Given the description of an element on the screen output the (x, y) to click on. 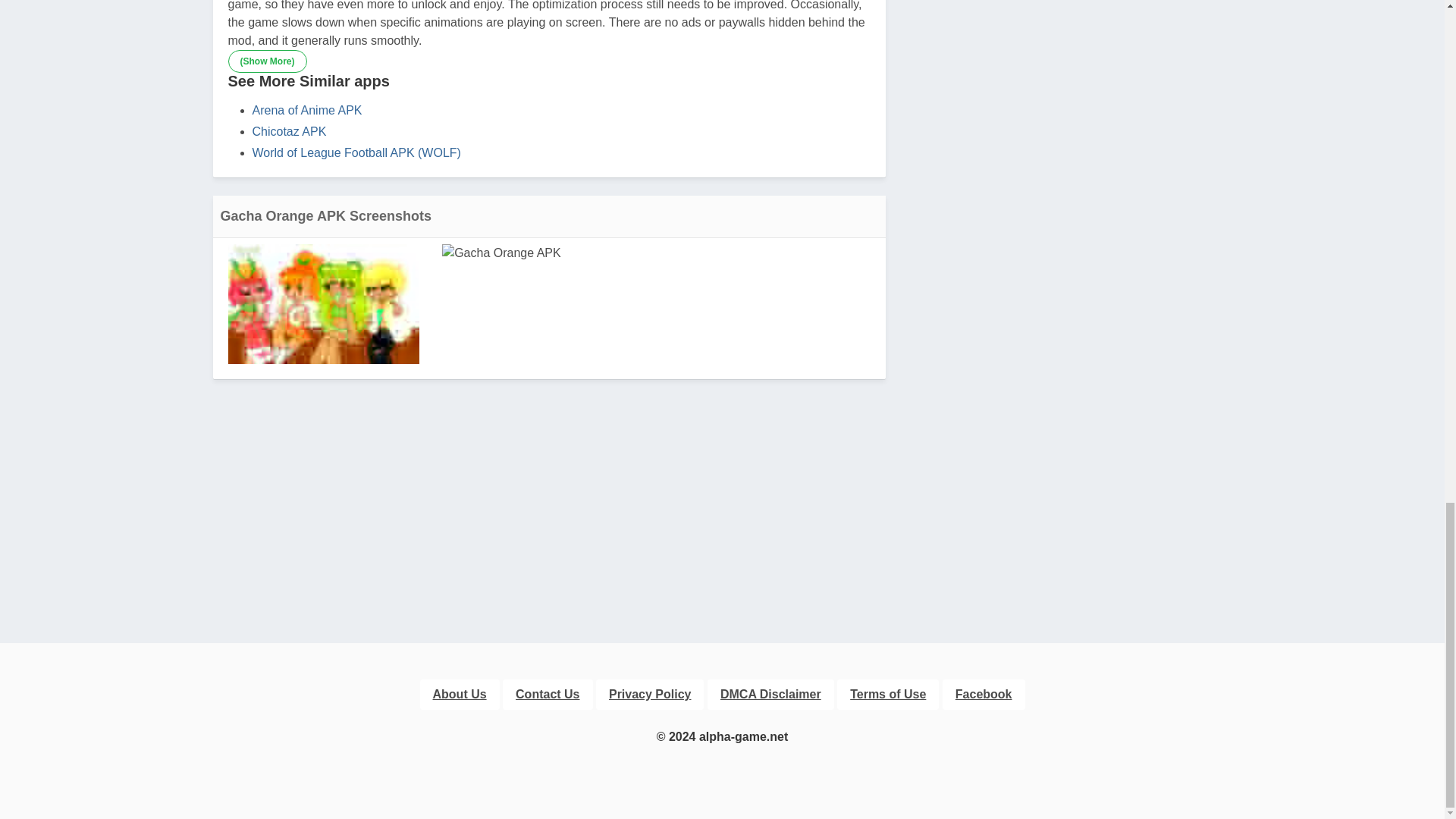
Chicotaz APK (288, 131)
Arena of Anime APK (306, 110)
